Given the description of an element on the screen output the (x, y) to click on. 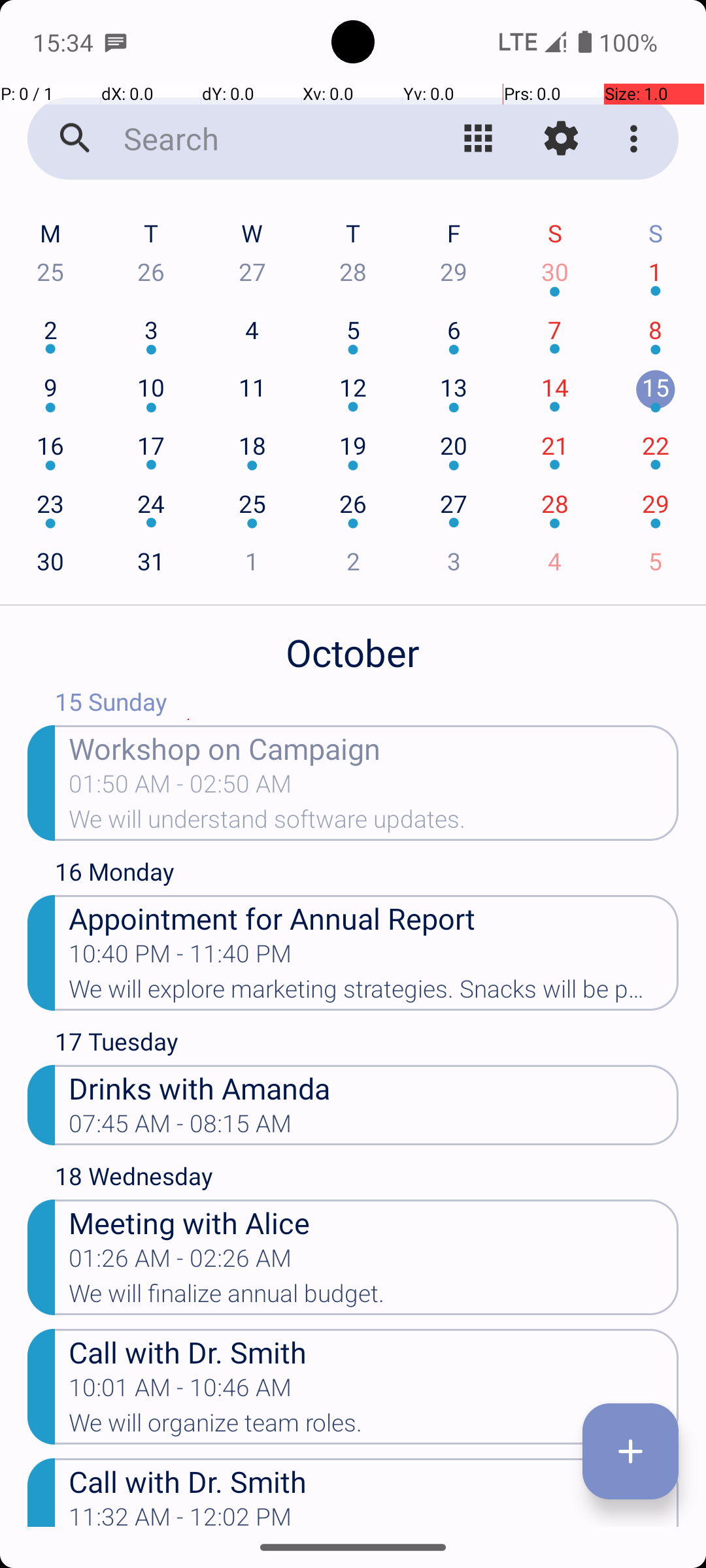
01:50 AM - 02:50 AM Element type: android.widget.TextView (179, 787)
We will understand software updates. Element type: android.widget.TextView (373, 822)
10:40 PM - 11:40 PM Element type: android.widget.TextView (179, 957)
We will explore marketing strategies. Snacks will be provided. Element type: android.widget.TextView (373, 992)
Drinks with Amanda Element type: android.widget.TextView (373, 1087)
07:45 AM - 08:15 AM Element type: android.widget.TextView (179, 1127)
01:26 AM - 02:26 AM Element type: android.widget.TextView (179, 1261)
We will finalize annual budget. Element type: android.widget.TextView (373, 1297)
10:01 AM - 10:46 AM Element type: android.widget.TextView (179, 1391)
We will organize team roles. Element type: android.widget.TextView (373, 1426)
11:32 AM - 12:02 PM Element type: android.widget.TextView (179, 1514)
